Given the description of an element on the screen output the (x, y) to click on. 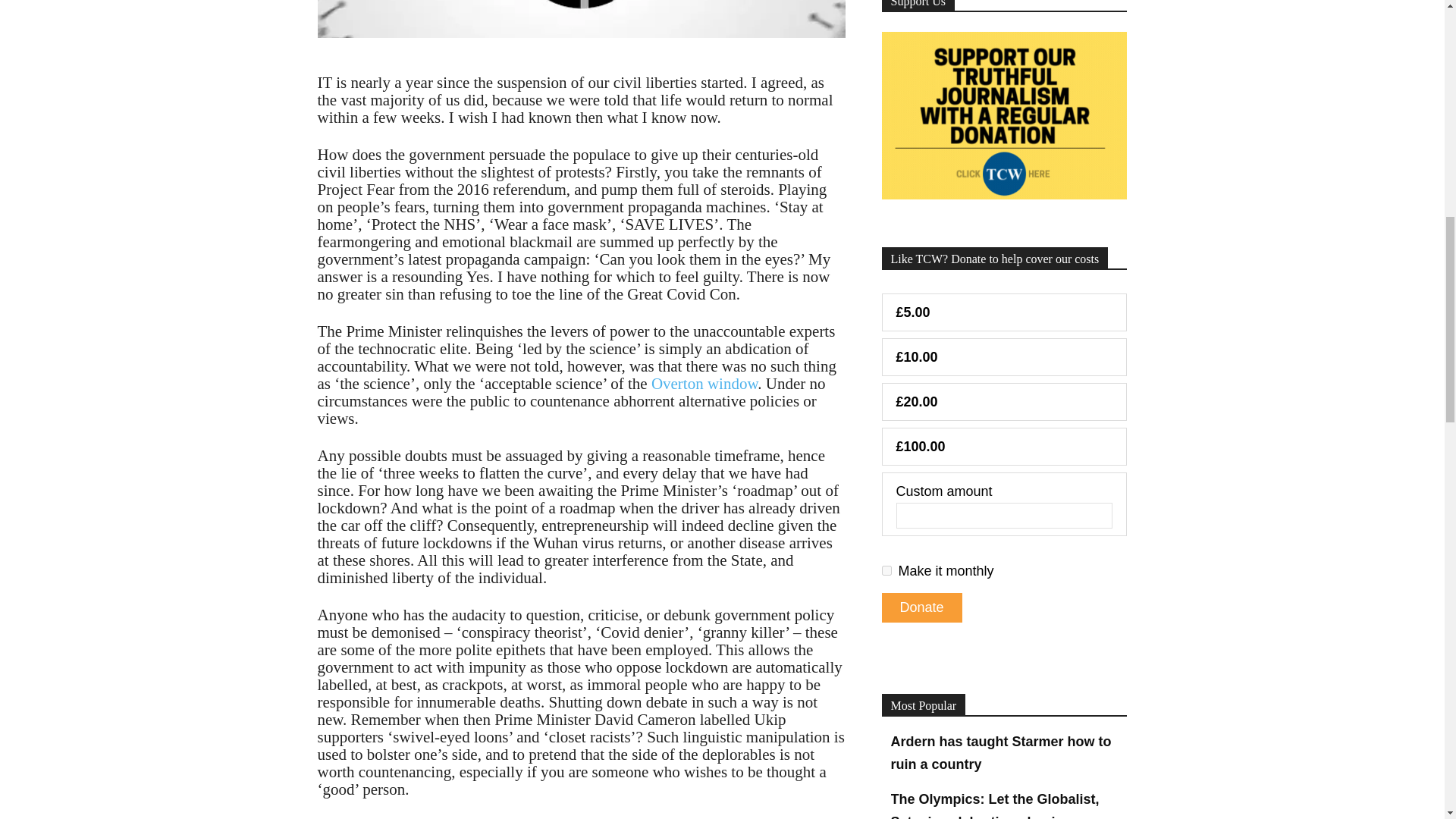
month (885, 570)
